Given the description of an element on the screen output the (x, y) to click on. 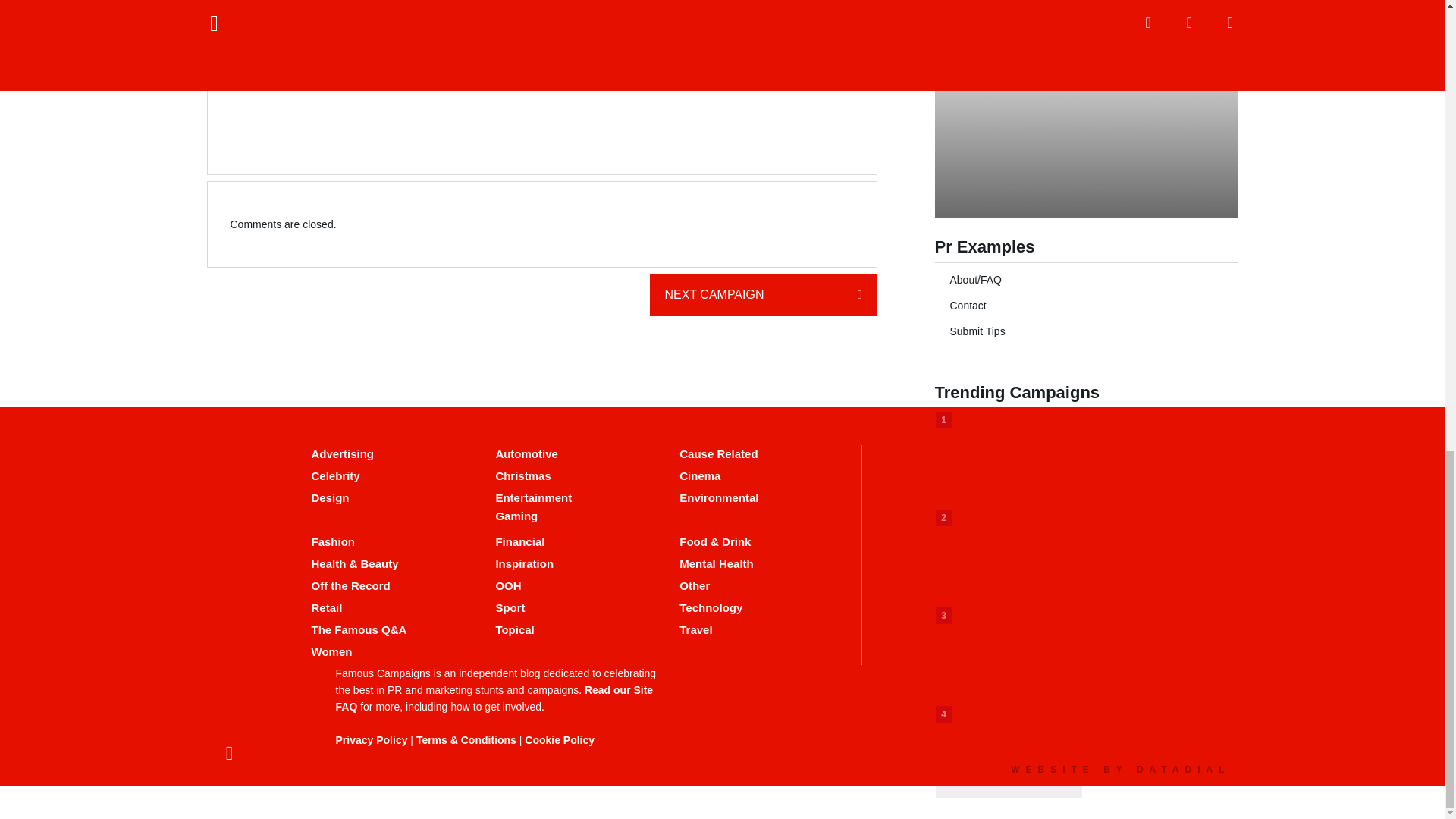
Search (1192, 6)
NEXT CAMPAIGN (762, 294)
ALL (541, 53)
